Given the description of an element on the screen output the (x, y) to click on. 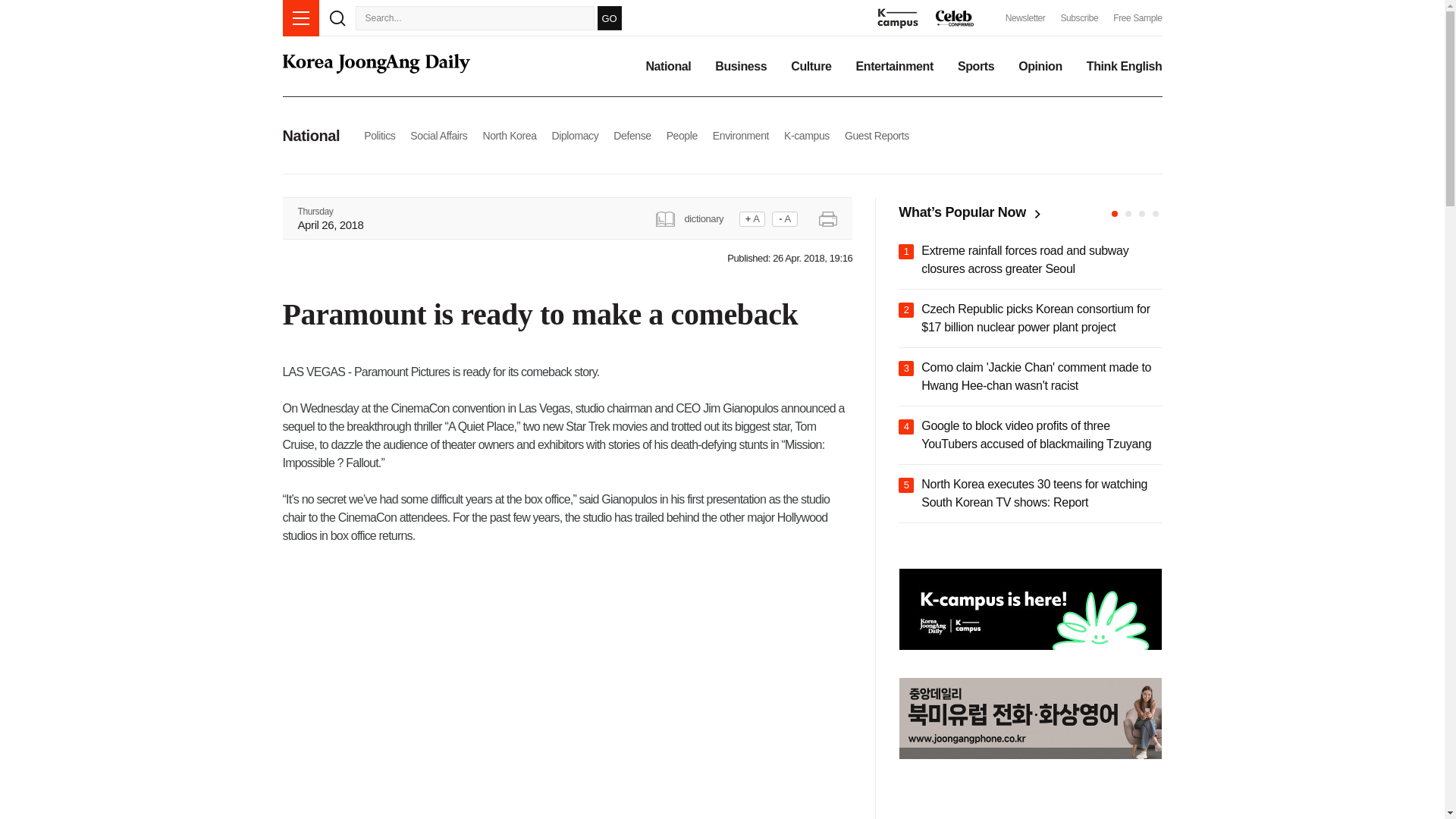
Subscribe (1078, 18)
People (681, 135)
Sports (976, 66)
Defense (631, 135)
Business (740, 66)
People (681, 135)
K-campus (806, 135)
Newsletter (1025, 18)
Social Affairs (438, 135)
Guest Reports (876, 135)
Culture (810, 66)
Free Sample (1137, 18)
GO (608, 17)
National (667, 66)
Environment (740, 135)
